Given the description of an element on the screen output the (x, y) to click on. 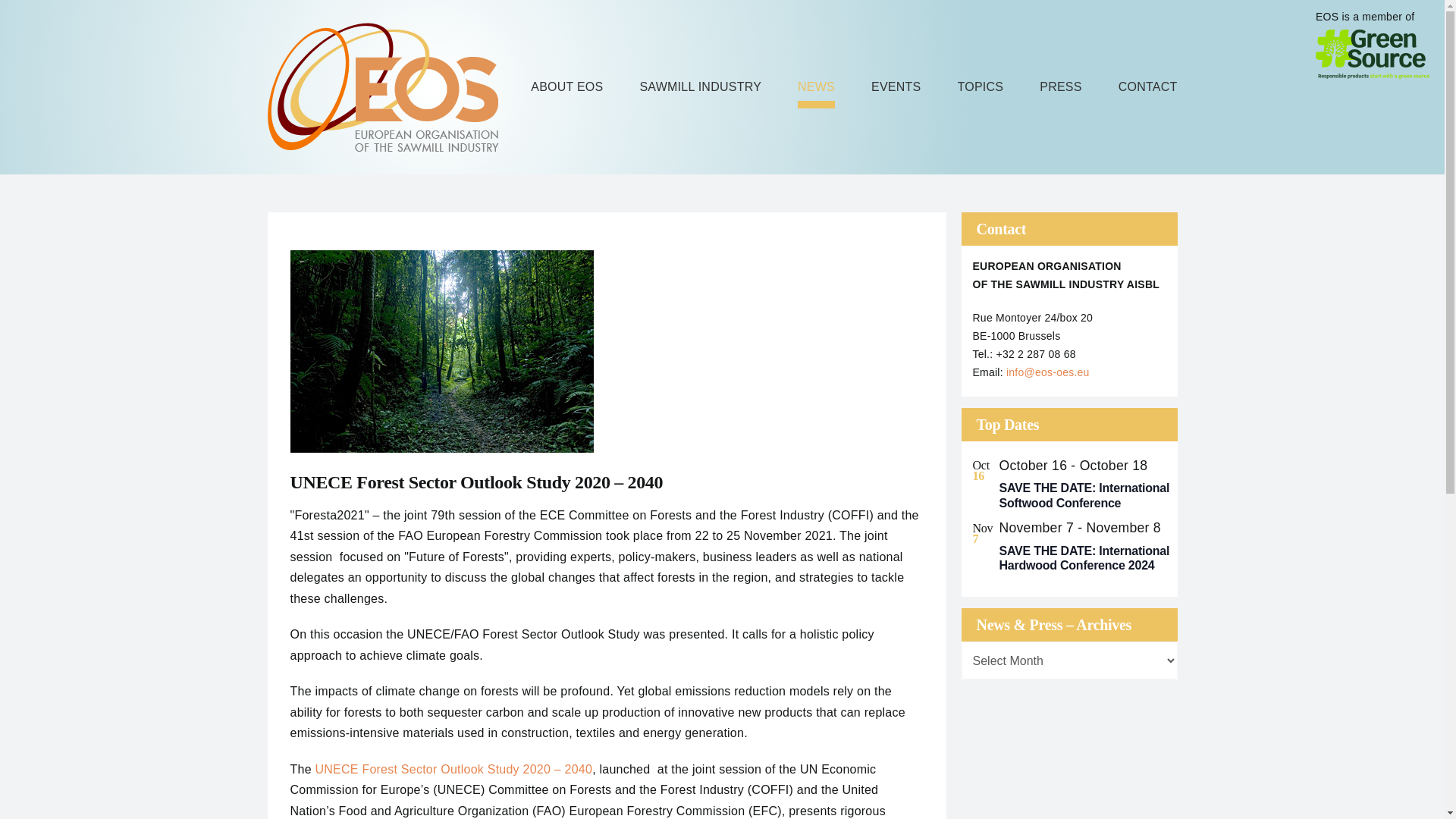
SAVE THE DATE: International Hardwood Conference 2024 (1084, 557)
SAWMILL INDUSTRY (700, 86)
SAVE THE DATE: International Softwood Conference (1084, 494)
